Given the description of an element on the screen output the (x, y) to click on. 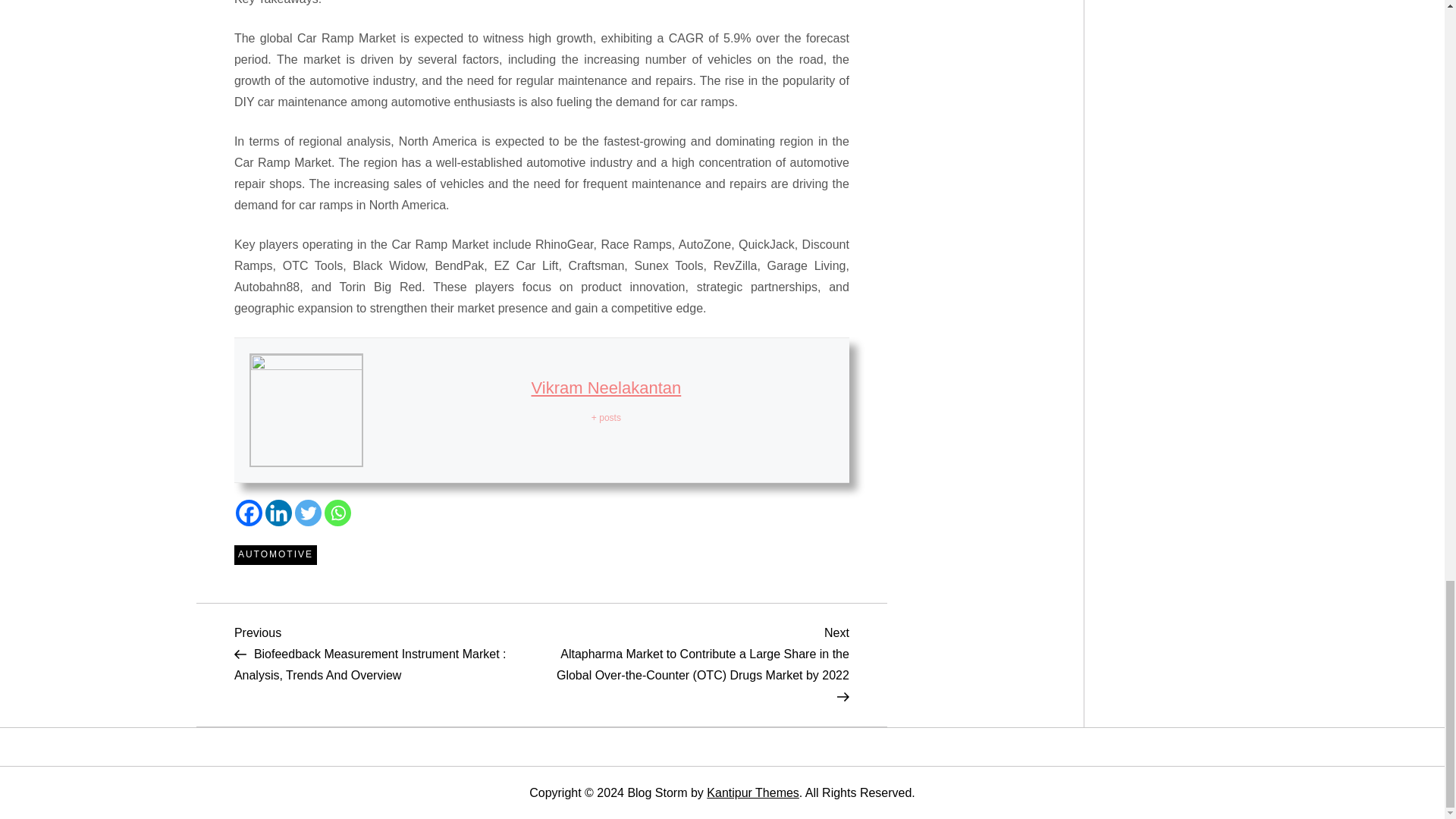
Twitter (308, 512)
AUTOMOTIVE (275, 555)
Facebook (248, 512)
Vikram Neelakantan (606, 387)
Linkedin (278, 512)
Kantipur Themes (752, 792)
Whatsapp (337, 512)
